Given the description of an element on the screen output the (x, y) to click on. 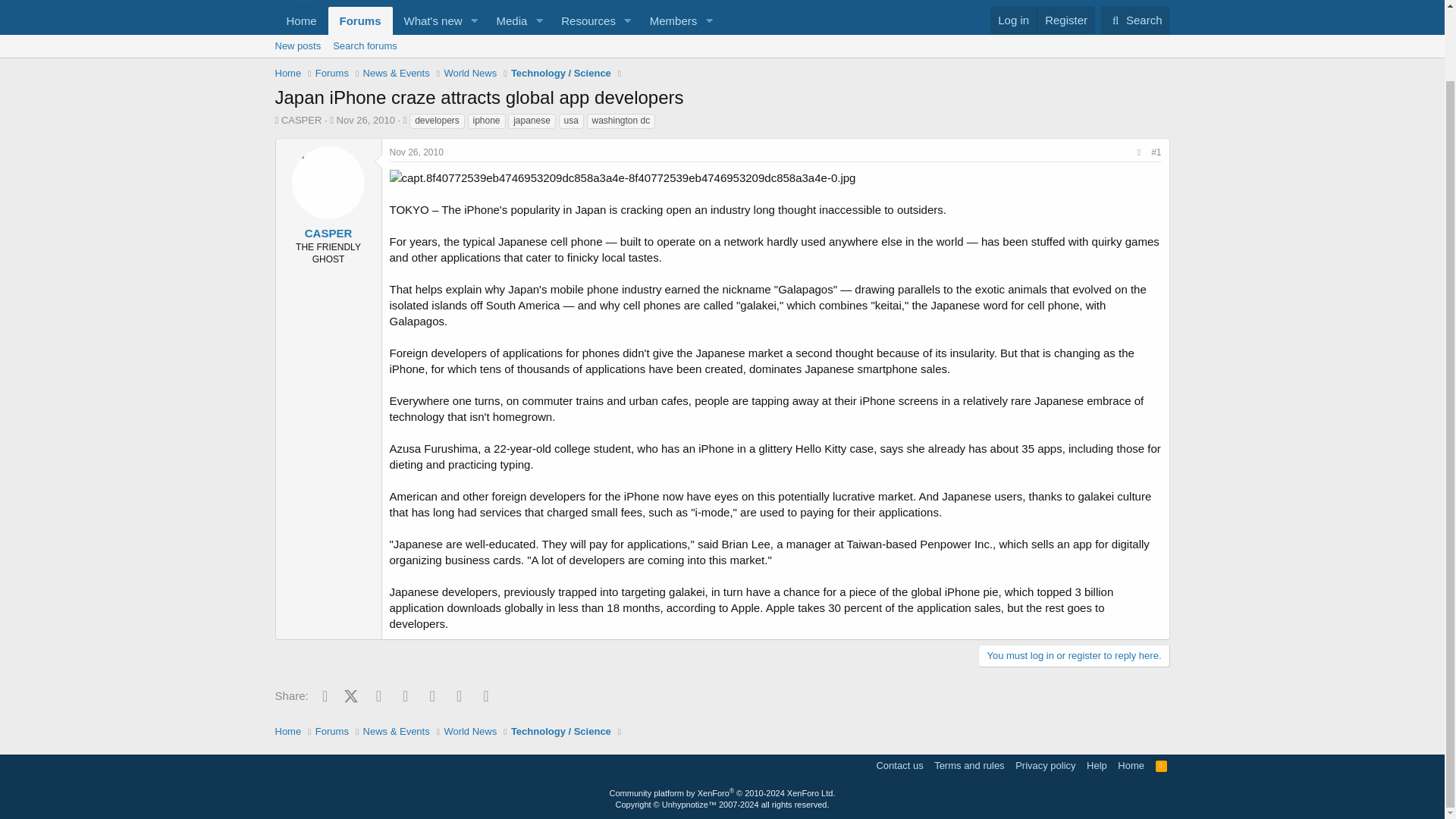
Media (720, 46)
What's new (506, 20)
Log in (428, 20)
Members (1013, 19)
Resources (668, 20)
Nov 26, 2010 at 8:18 PM (496, 20)
Home (583, 20)
